Given the description of an element on the screen output the (x, y) to click on. 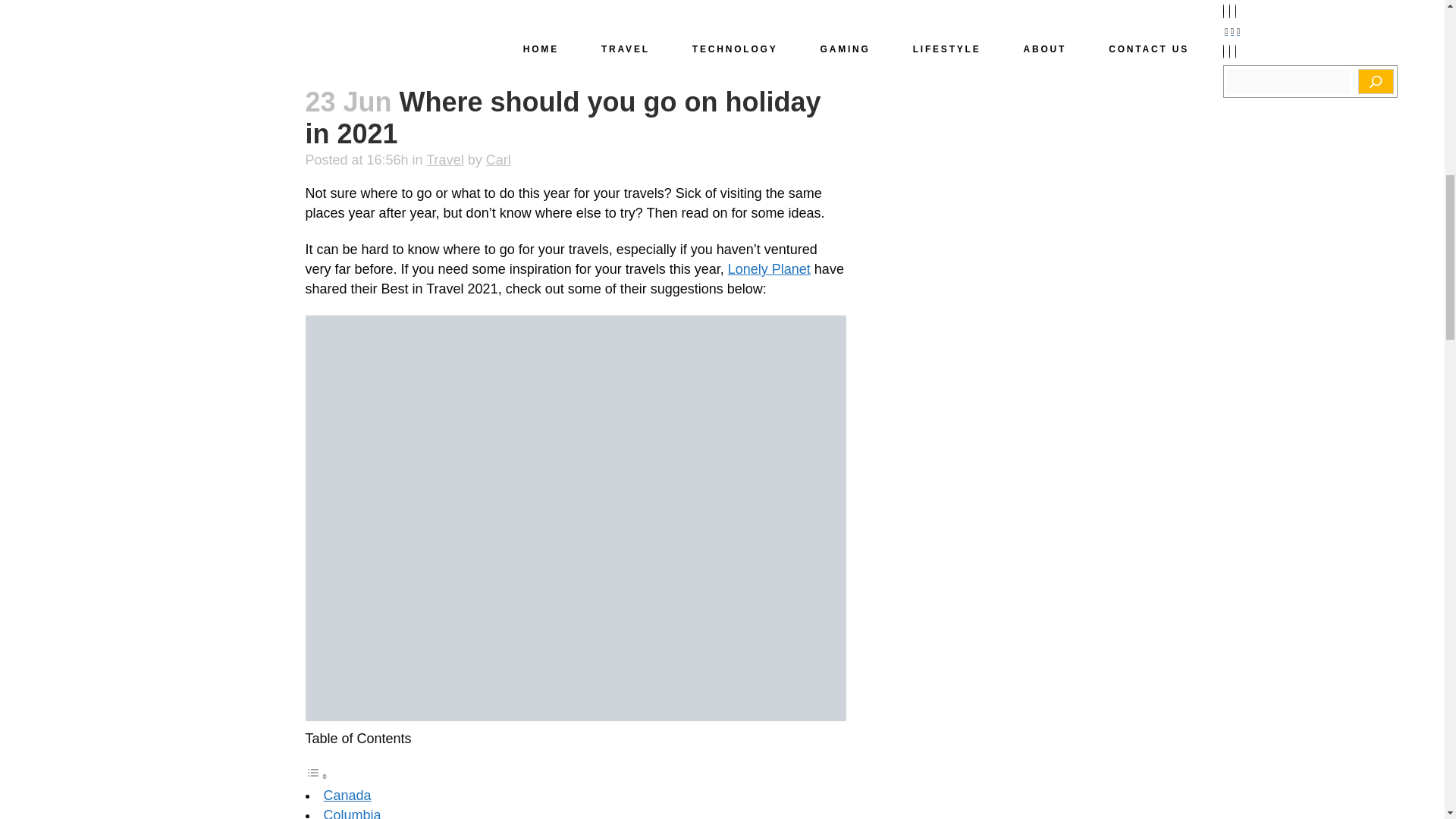
Canada (347, 795)
Columbia (351, 813)
Lonely Planet (769, 268)
Columbia (351, 813)
Canada (347, 795)
Carl (498, 159)
Travel (444, 159)
